Given the description of an element on the screen output the (x, y) to click on. 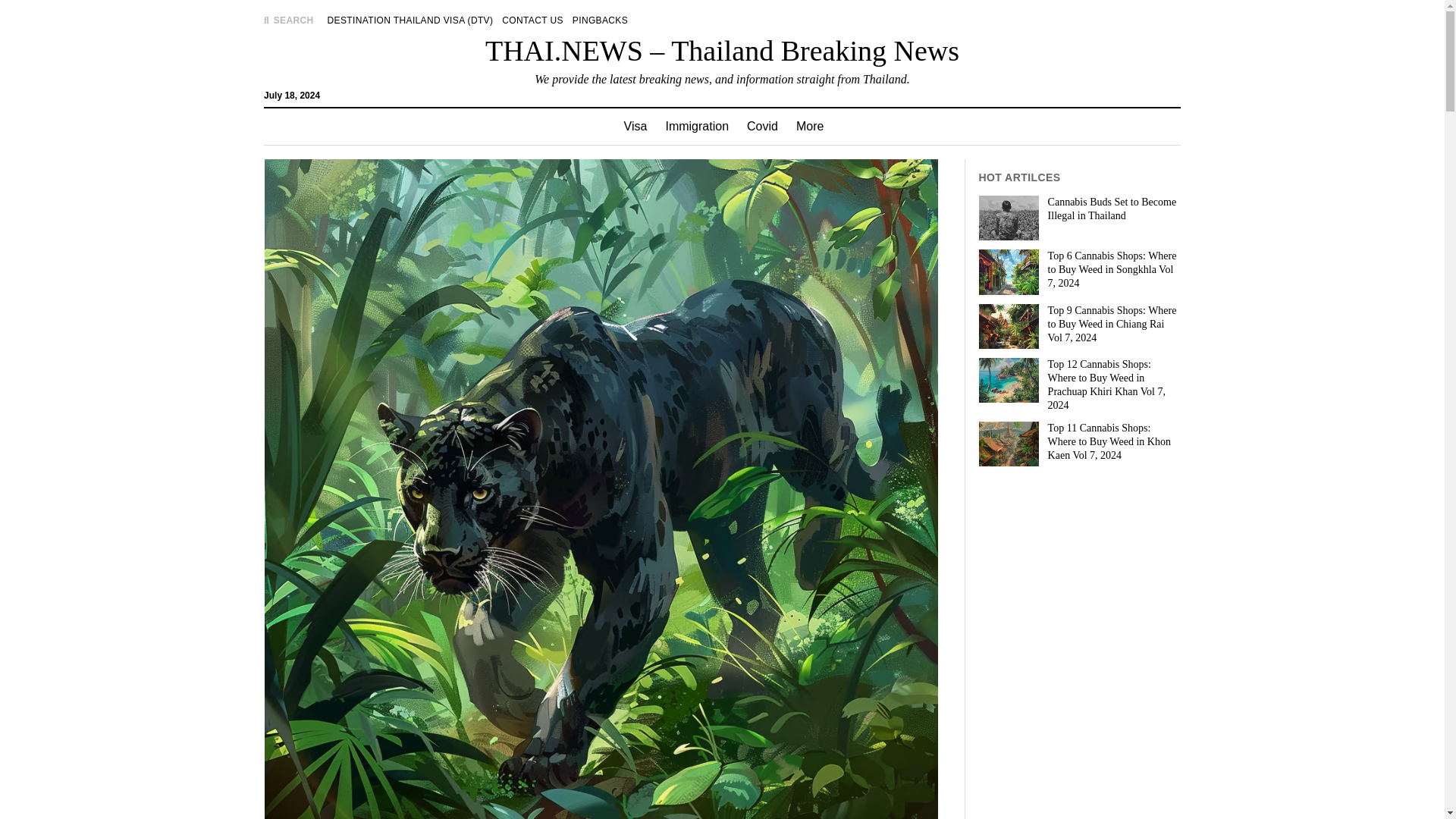
Covid (762, 126)
Visa (635, 126)
SEARCH (288, 20)
PINGBACKS (599, 20)
CONTACT US (532, 20)
Immigration (697, 126)
Search (945, 129)
More (809, 126)
